Given the description of an element on the screen output the (x, y) to click on. 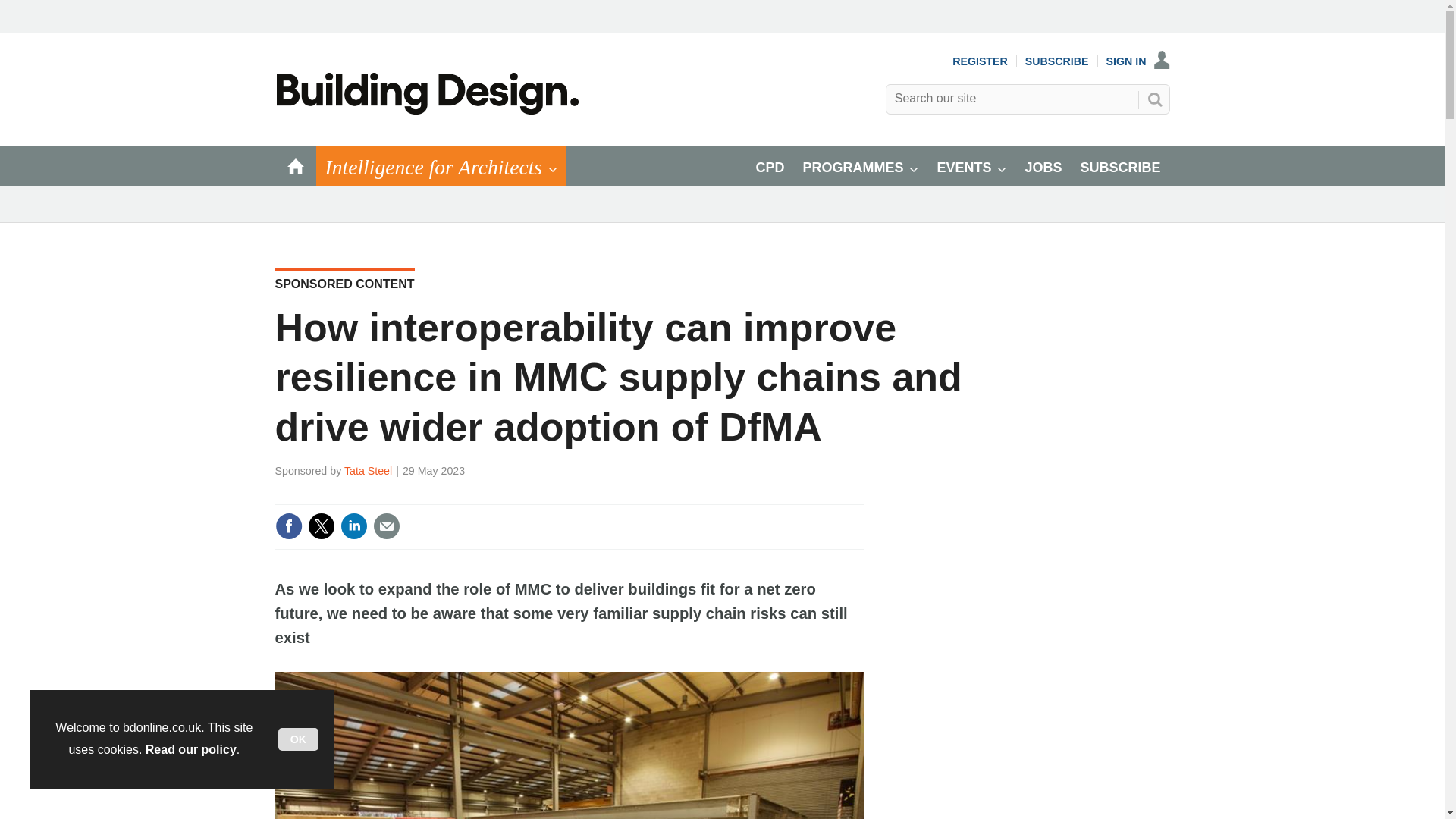
Email this article (386, 525)
REGISTER (979, 61)
SIGN IN (1138, 61)
SUBSCRIBE (1057, 61)
Share this on Facebook (288, 525)
Share this on Linked in (352, 525)
Share this on Twitter (320, 525)
SEARCH (1153, 98)
Read our policy (190, 748)
OK (298, 739)
